Given the description of an element on the screen output the (x, y) to click on. 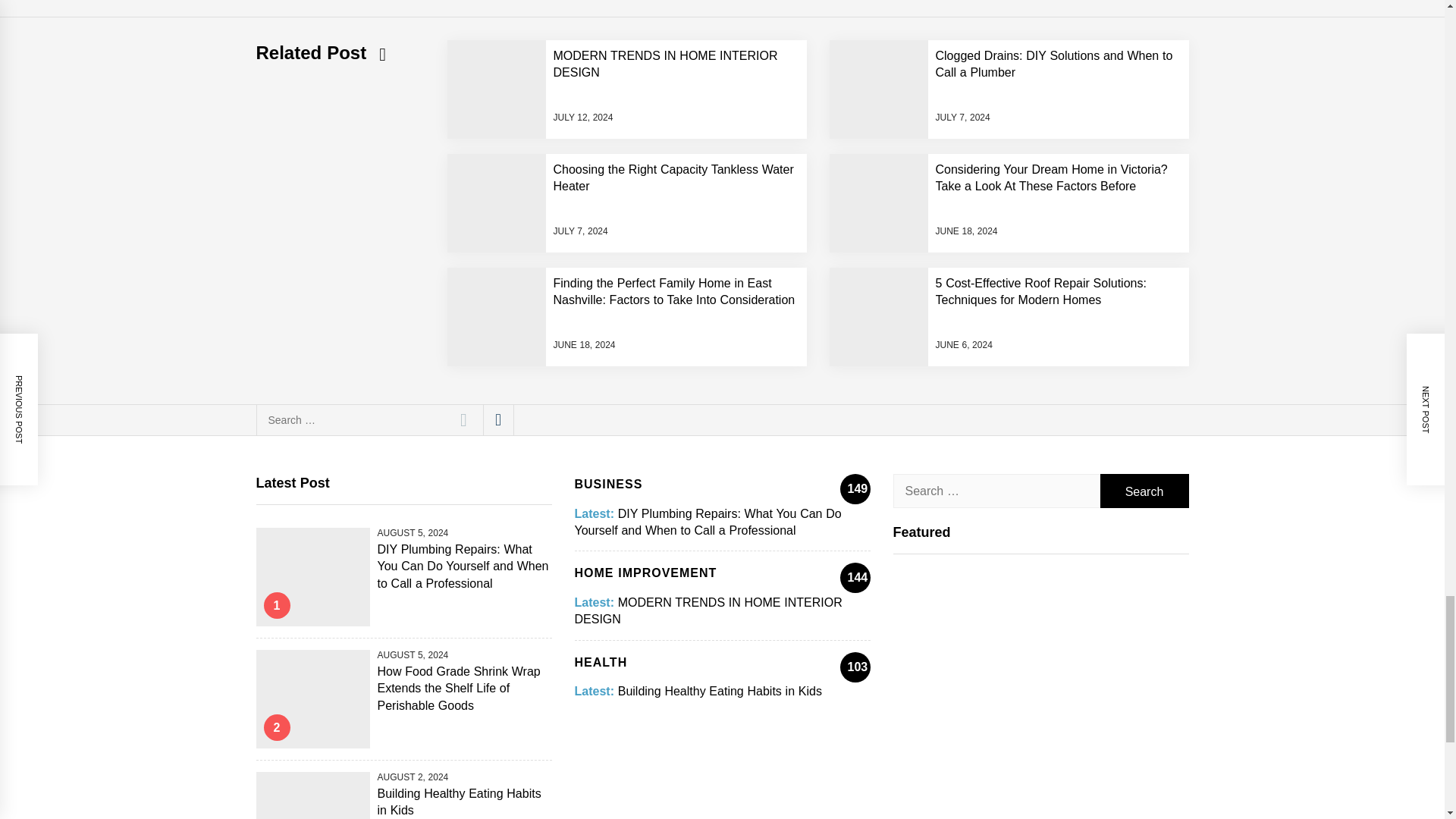
Search (462, 419)
Search (1143, 490)
Search (462, 419)
Search (1143, 490)
